Given the description of an element on the screen output the (x, y) to click on. 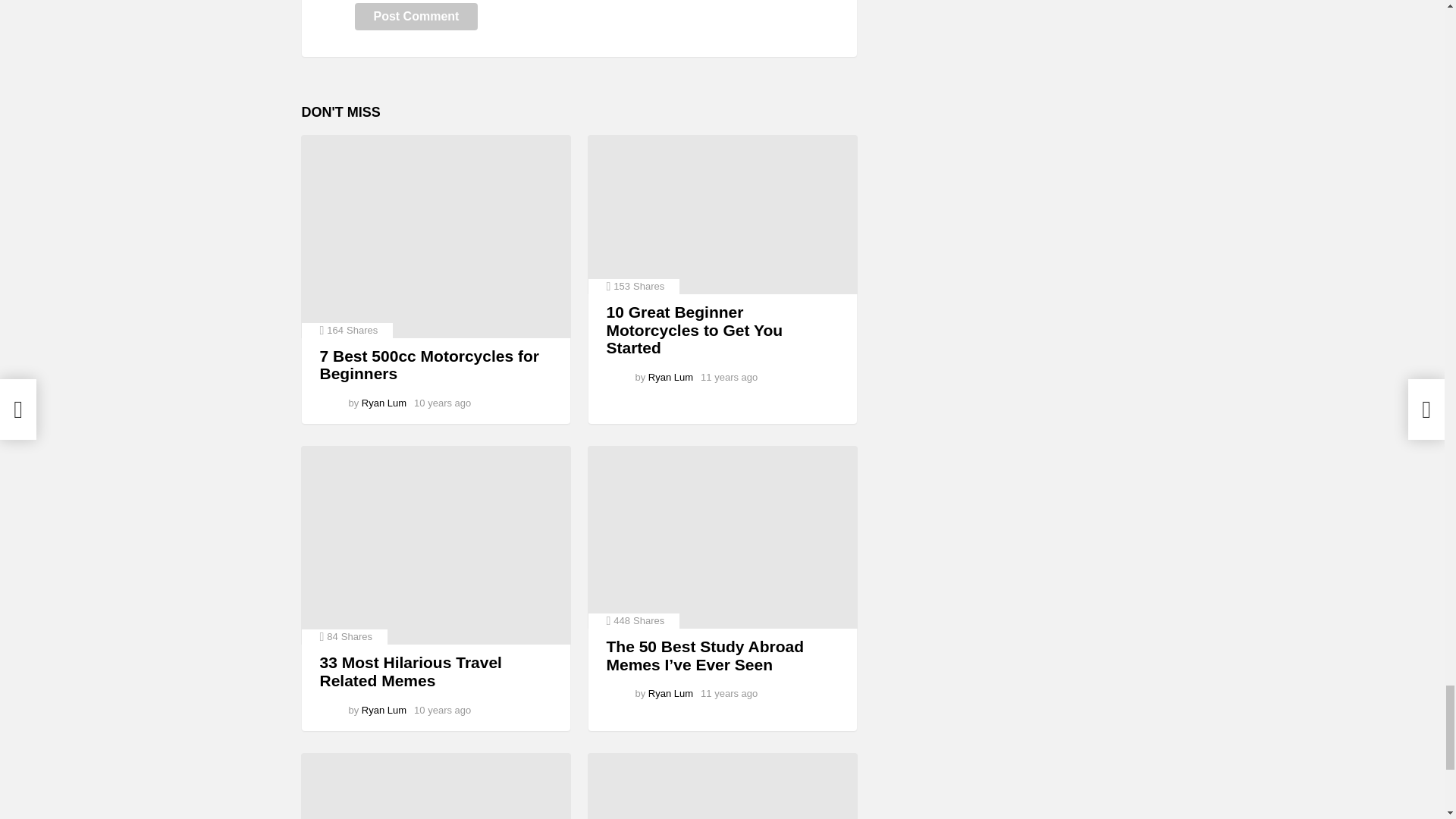
Post Comment (417, 16)
